Given the description of an element on the screen output the (x, y) to click on. 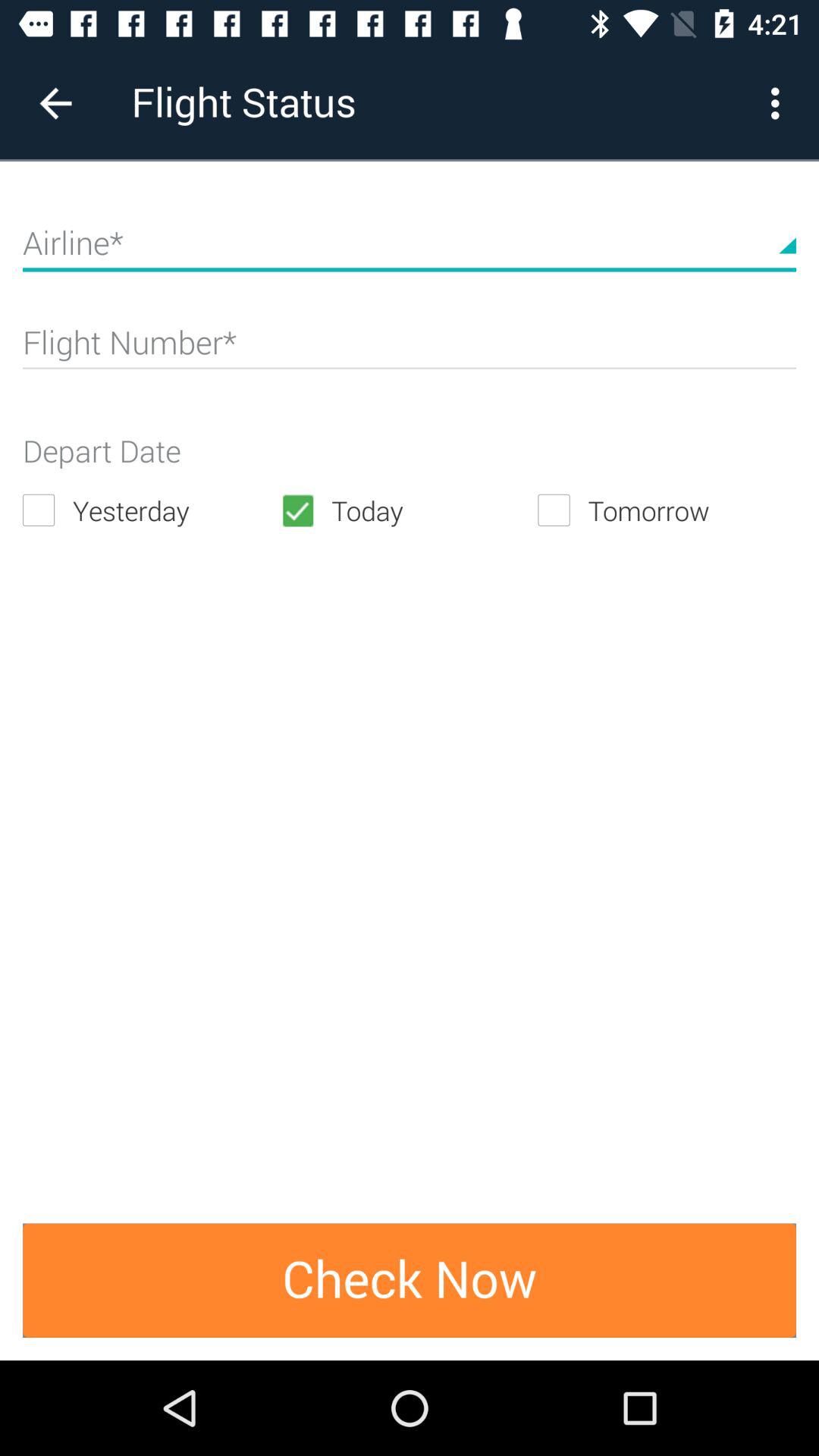
swipe until tomorrow (667, 510)
